Given the description of an element on the screen output the (x, y) to click on. 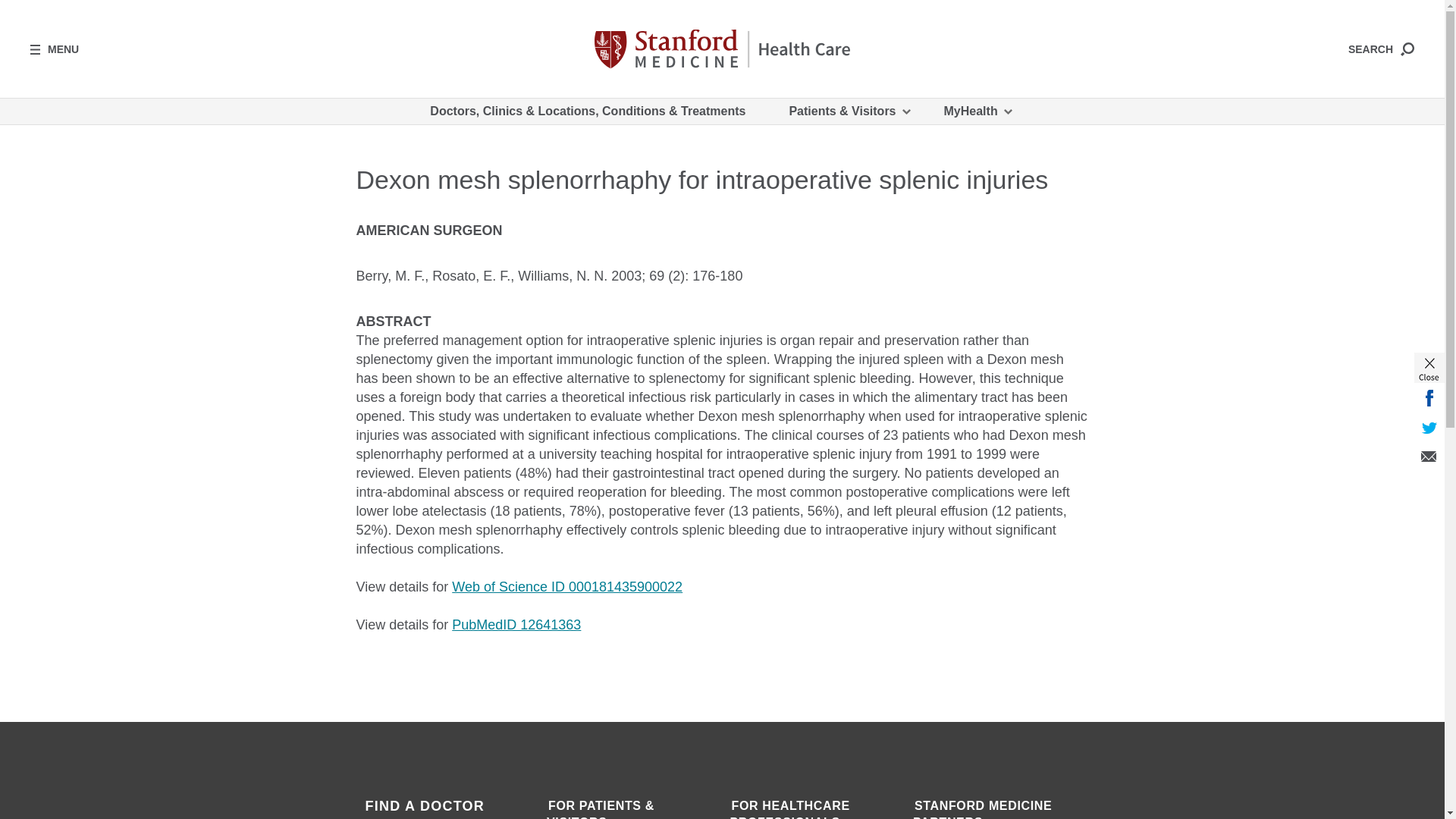
SEARCH (1380, 49)
MENU (54, 49)
MyHealth (976, 110)
